Given the description of an element on the screen output the (x, y) to click on. 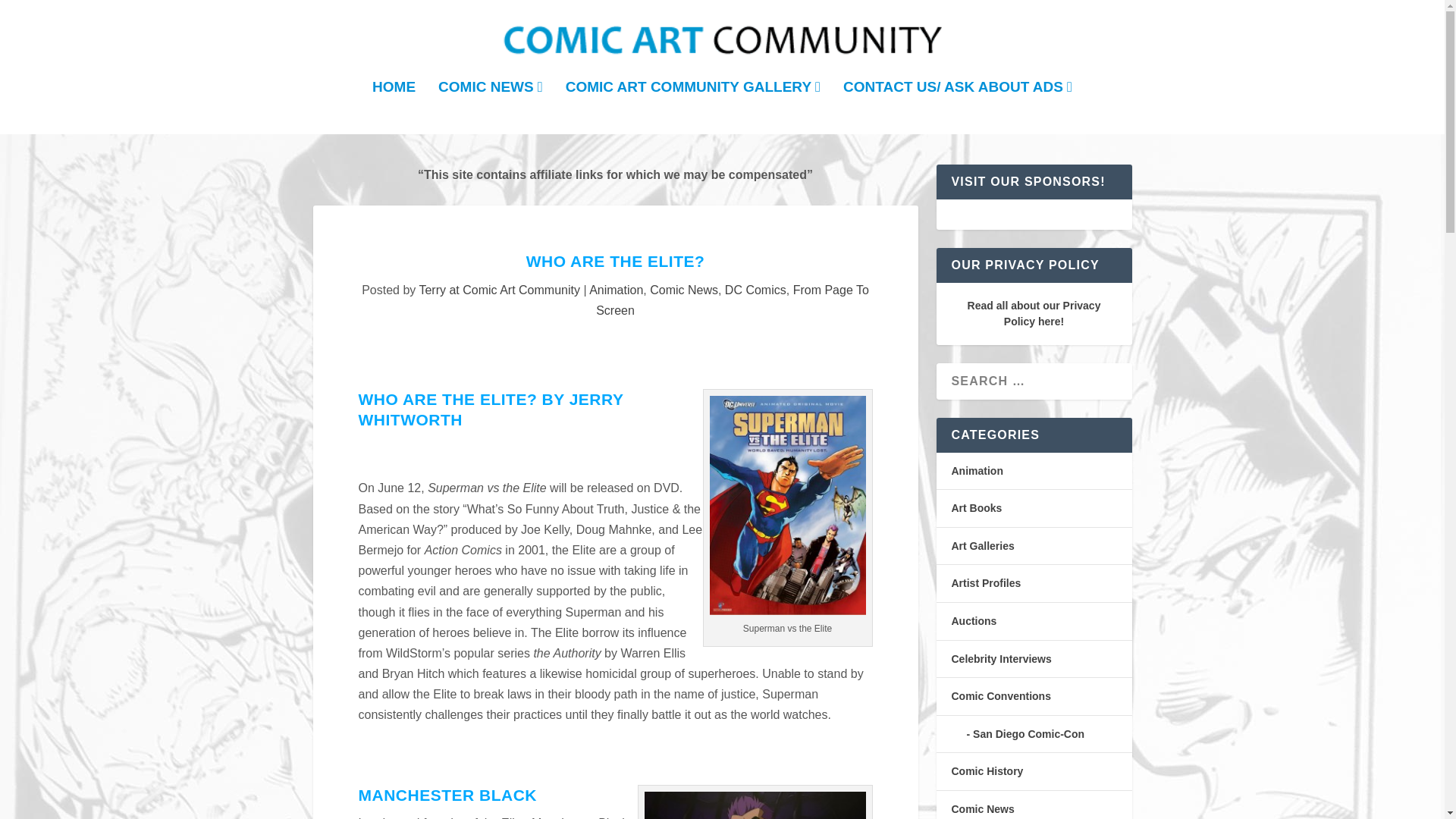
COMIC NEWS (490, 107)
Posts by Terry at Comic Art Community (499, 289)
COMIC ART COMMUNITY GALLERY (693, 107)
Manchester (755, 805)
